Given the description of an element on the screen output the (x, y) to click on. 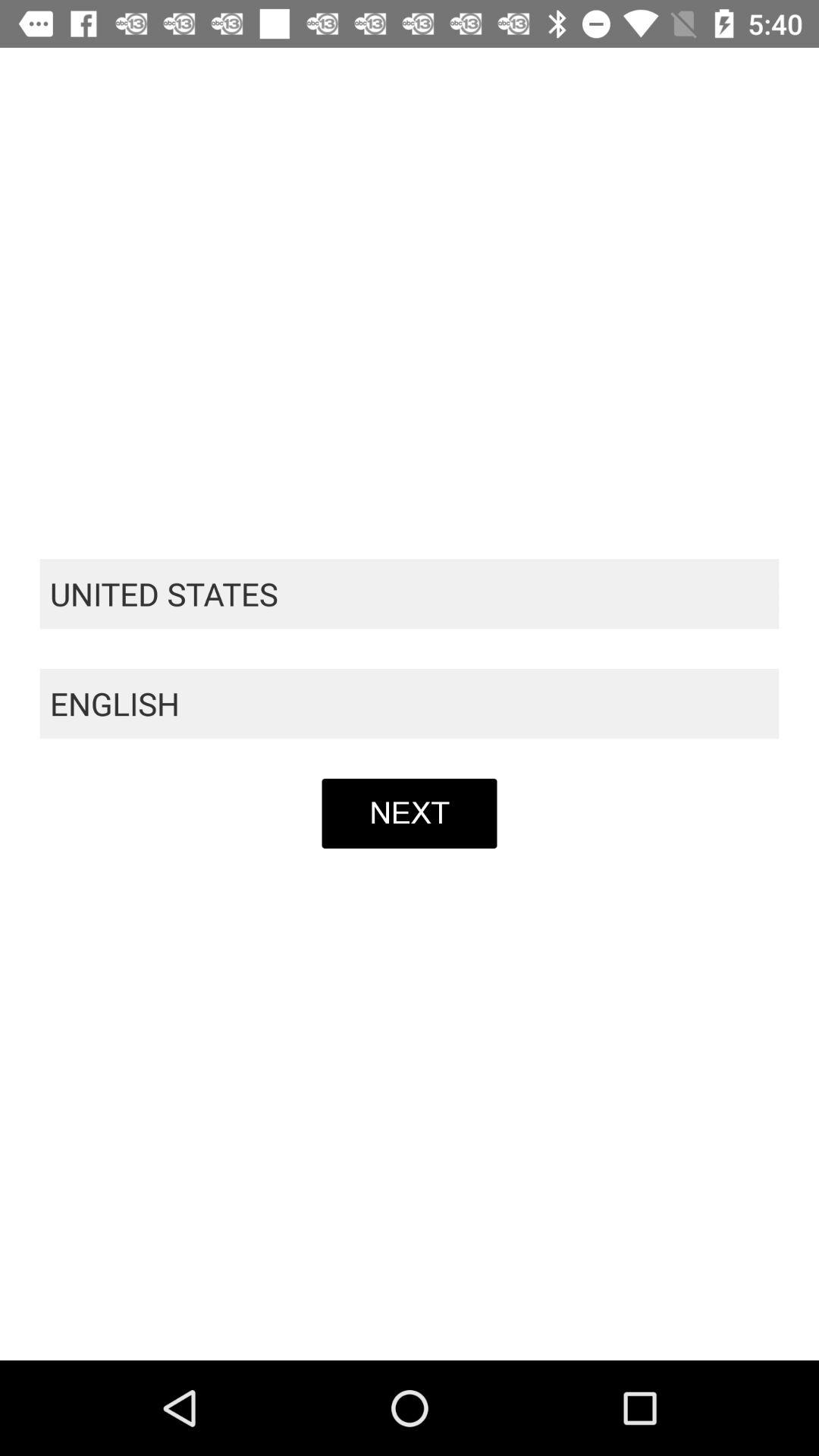
select item above the english icon (409, 594)
